Given the description of an element on the screen output the (x, y) to click on. 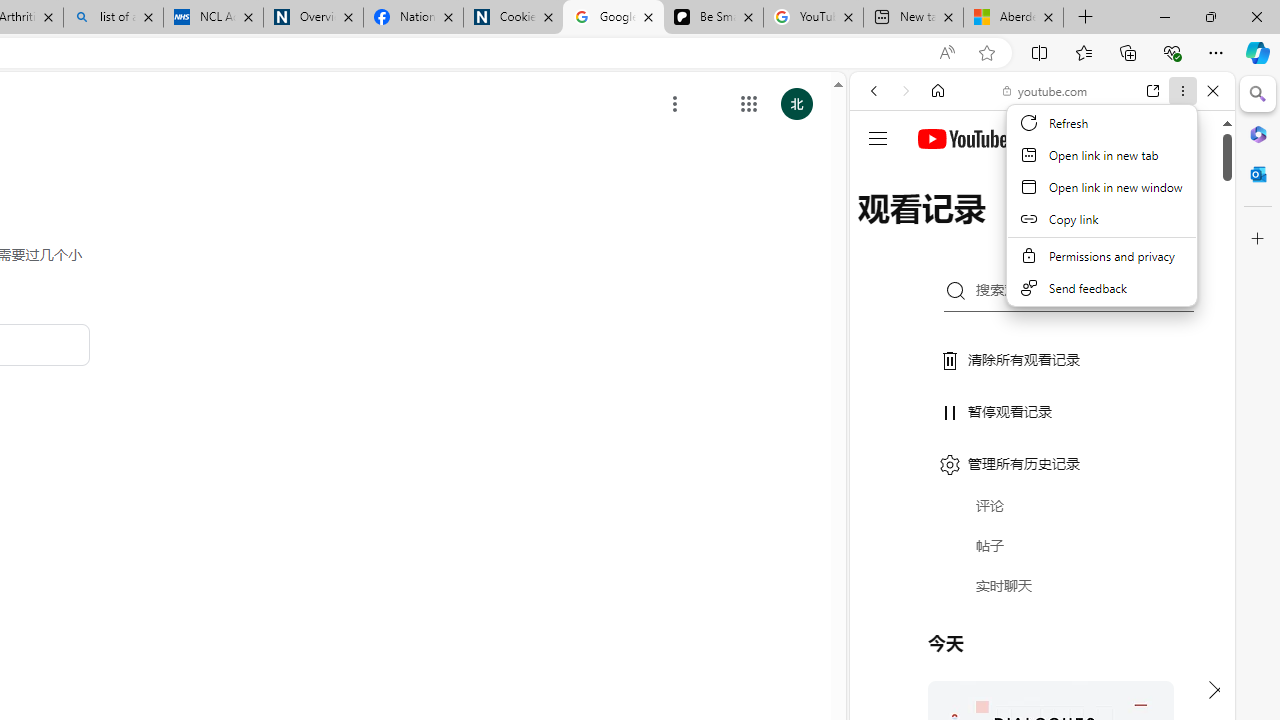
#you (1042, 445)
Search the web (1051, 137)
Context (1101, 205)
NCL Adult Asthma Inhaler Choice Guideline (212, 17)
